Given the description of an element on the screen output the (x, y) to click on. 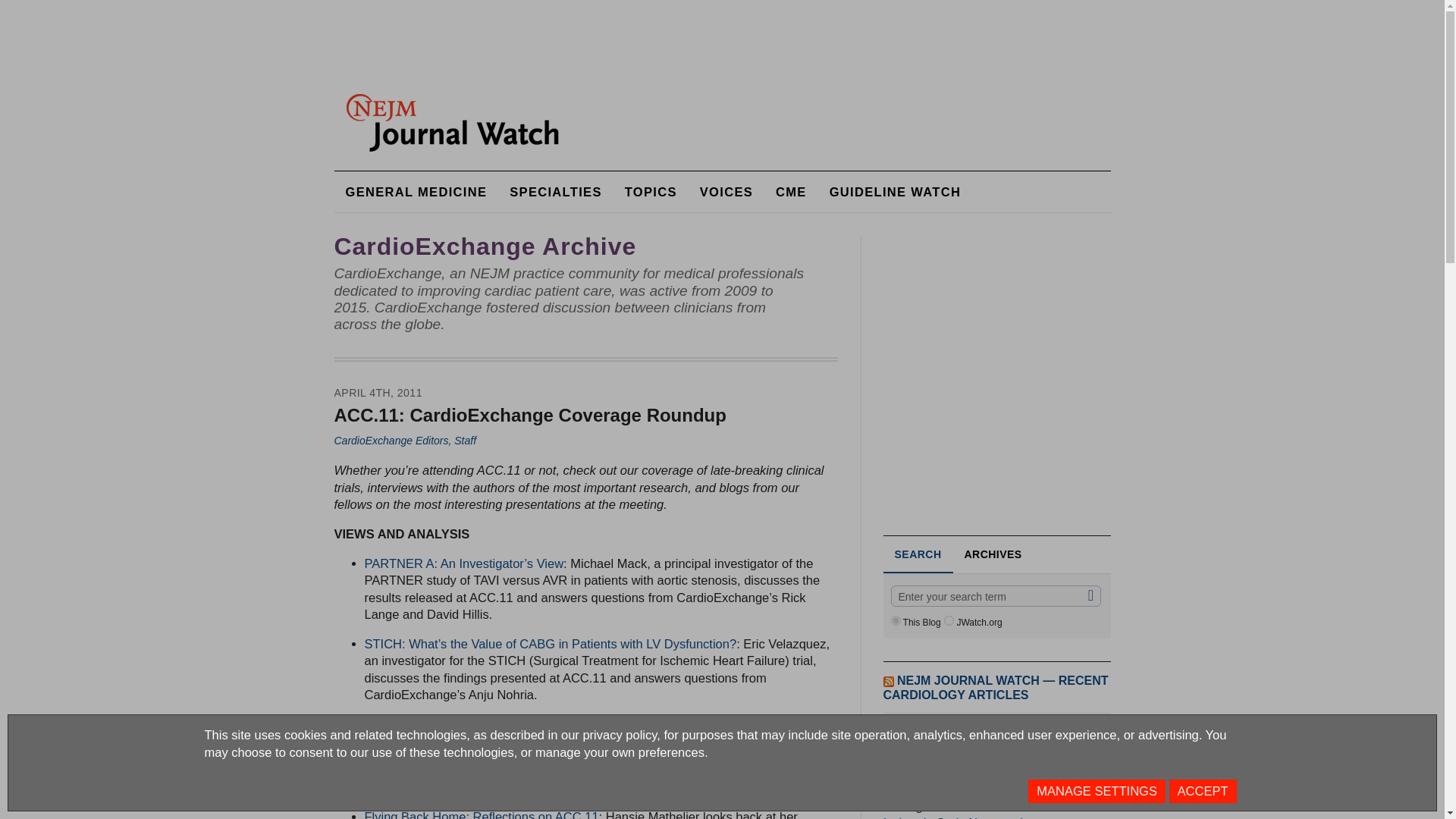
GENERAL MEDICINE (415, 191)
Posts by CardioExchange Editors, Staff (404, 440)
CardioExchange Editors, Staff (404, 440)
This Blog (894, 620)
Permanent Link to TAVI: PARTNER or Blind Date? (451, 724)
CardioExchange Archive: Permalink (484, 246)
Enter your search term (994, 595)
GUIDELINE WATCH (895, 191)
VOICES (726, 191)
CardioExchange Archive (484, 246)
TOPICS (650, 191)
TAVI: PARTNER or Blind Date? (451, 724)
CME (791, 191)
JWatch.org (948, 620)
SPECIALTIES (554, 191)
